Given the description of an element on the screen output the (x, y) to click on. 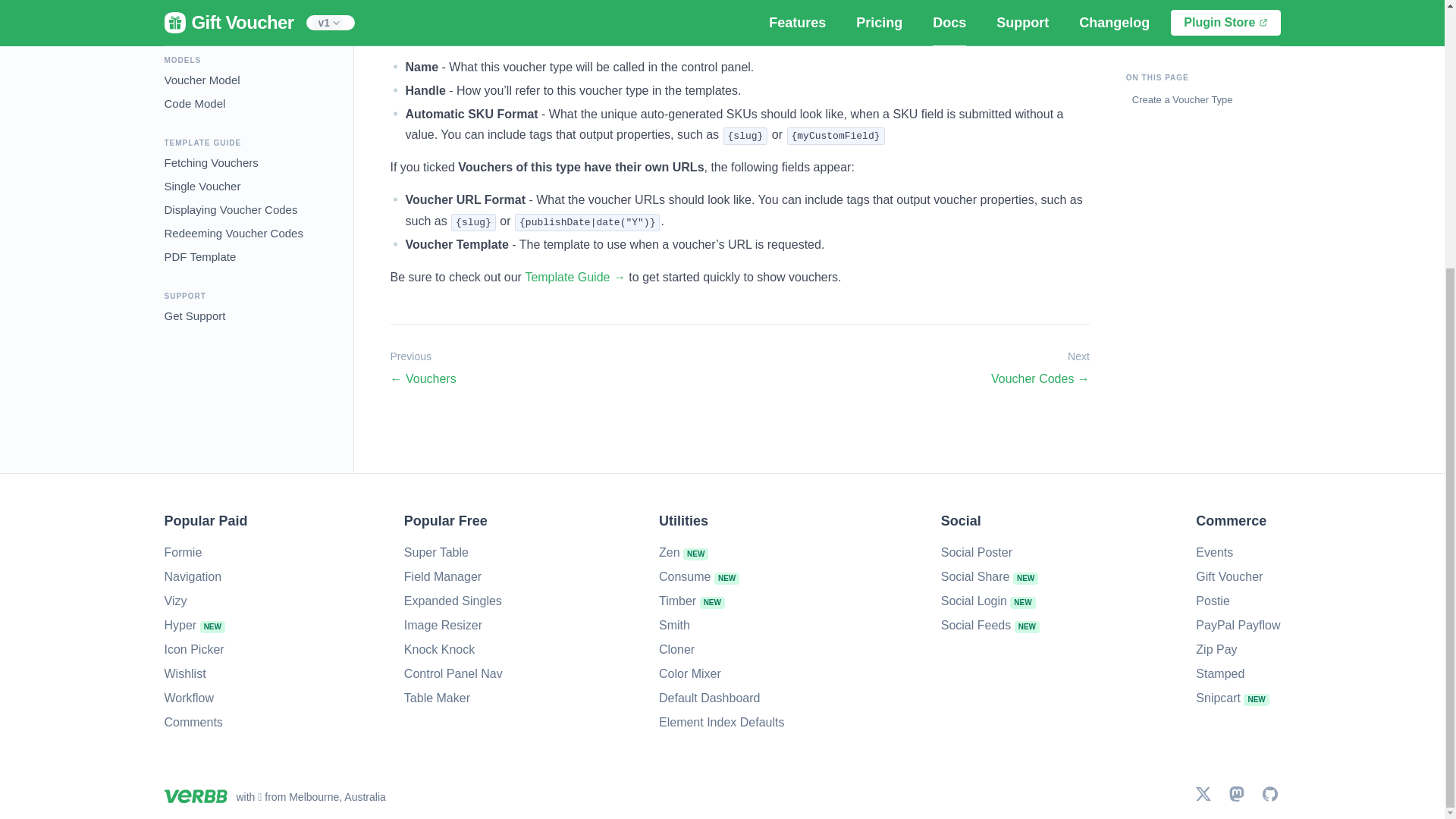
PDF Template (199, 254)
Multiple Vouchers (208, 3)
Fetching Vouchers (210, 159)
Redeeming Voucher Codes (232, 230)
PDF Vouchers (200, 18)
Voucher Model (201, 77)
Single Voucher (201, 183)
Code Model (194, 101)
Displaying Voucher Codes (230, 207)
